Given the description of an element on the screen output the (x, y) to click on. 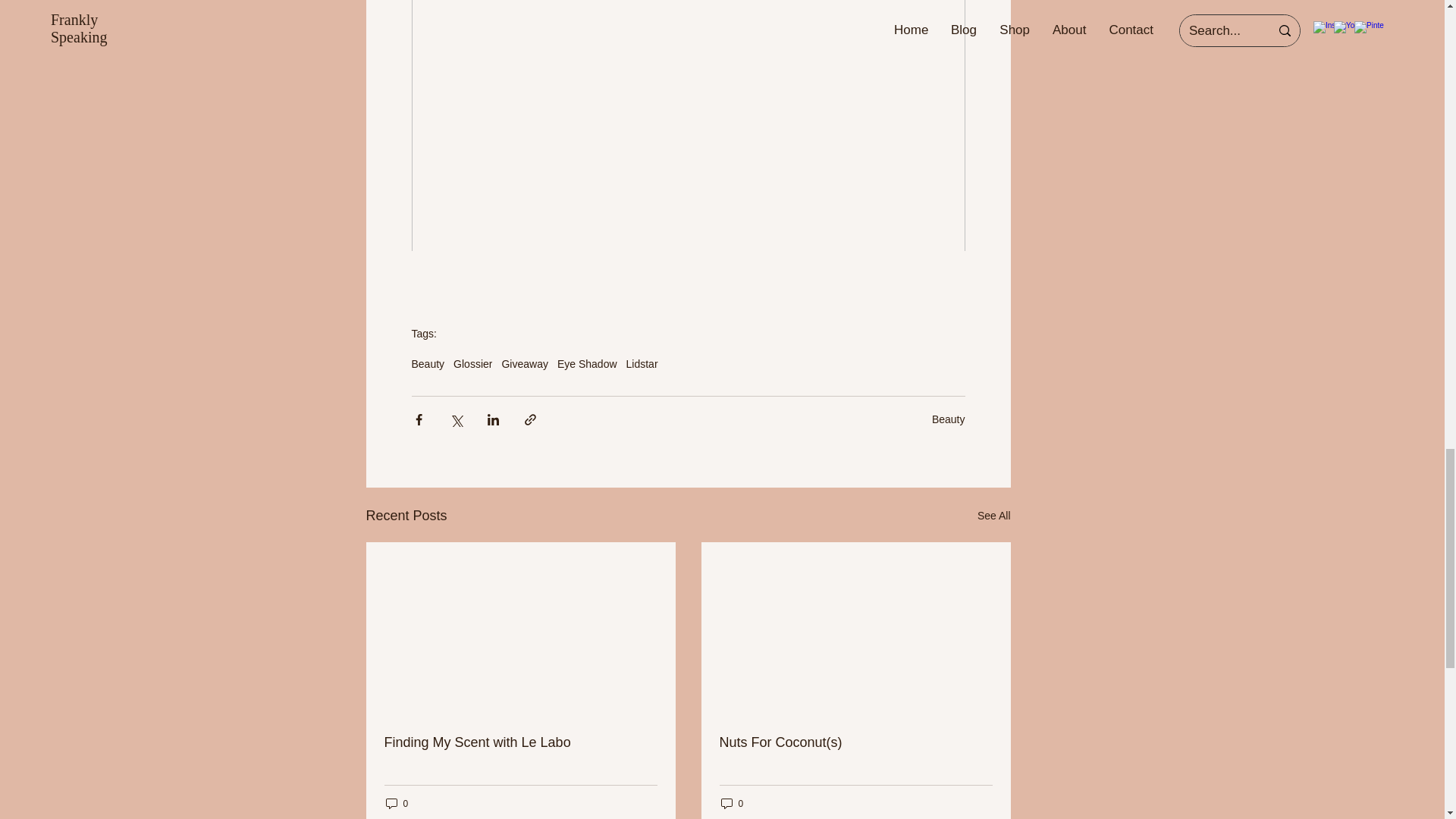
Eye Shadow (587, 363)
Beauty (427, 363)
Glossier (472, 363)
Giveaway (523, 363)
